Given the description of an element on the screen output the (x, y) to click on. 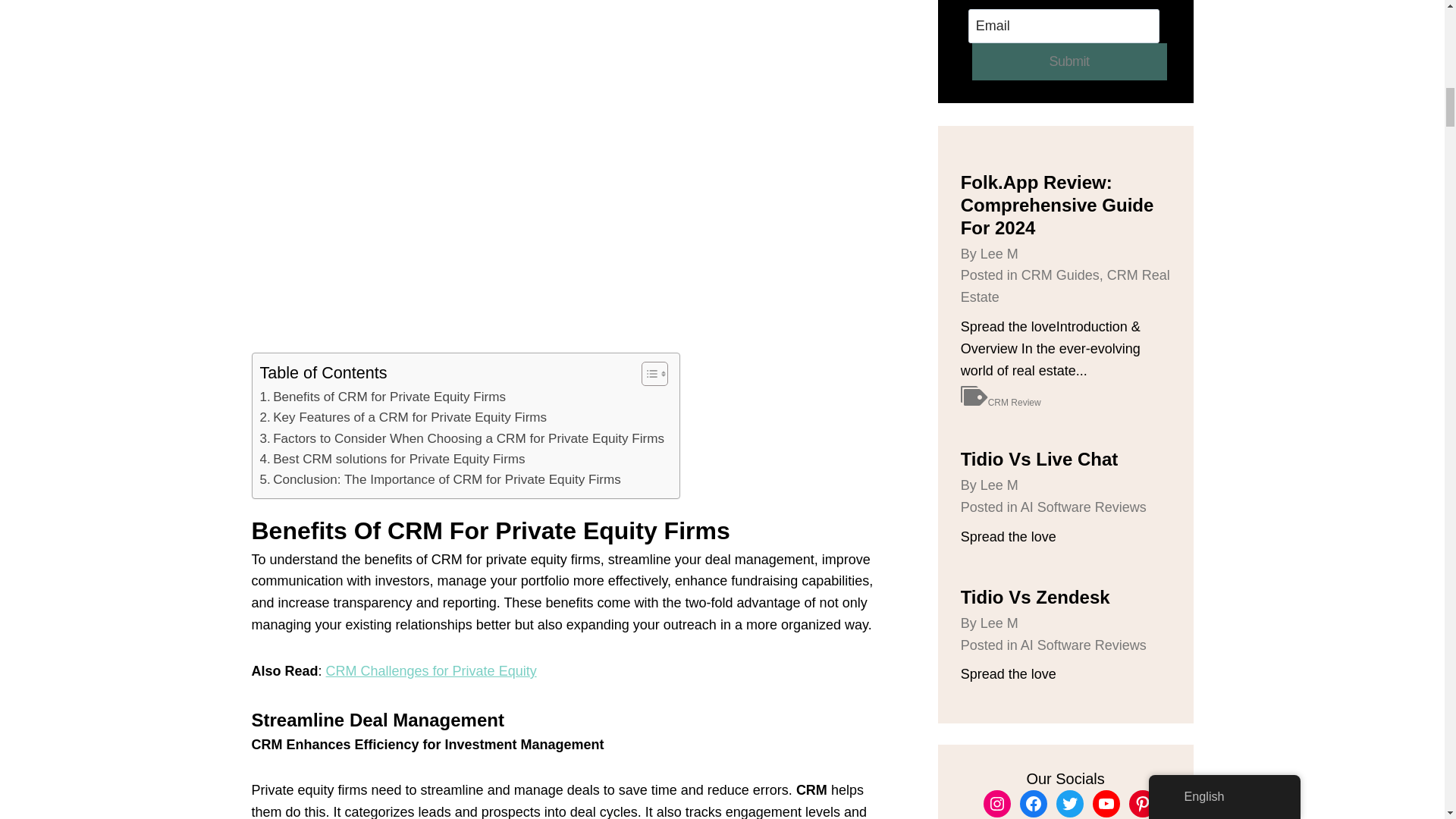
Key Features of a CRM for Private Equity Firms (403, 417)
Conclusion: The Importance of CRM for Private Equity Firms (439, 479)
Best CRM solutions for Private Equity Firms (391, 458)
Key Features of a CRM for Private Equity Firms (403, 417)
Benefits of CRM for Private Equity Firms (382, 396)
Benefits of CRM for Private Equity Firms (382, 396)
